Given the description of an element on the screen output the (x, y) to click on. 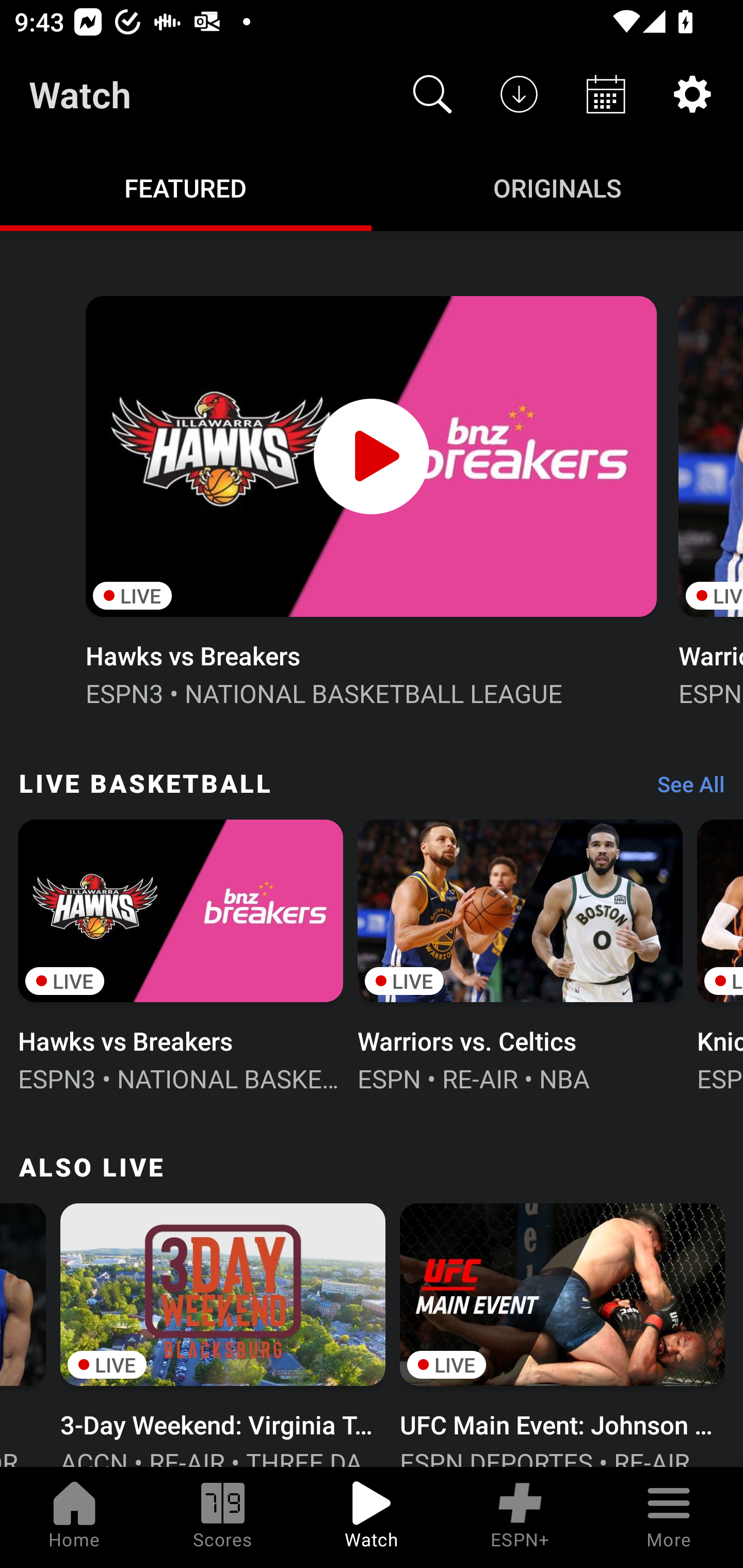
Search (432, 93)
Downloads (518, 93)
Schedule (605, 93)
Settings (692, 93)
Originals ORIGINALS (557, 187)
See All (683, 788)
LIVE Warriors vs. Celtics ESPN • RE-AIR • NBA (519, 954)
Home (74, 1517)
Scores (222, 1517)
ESPN+ (519, 1517)
More (668, 1517)
